Given the description of an element on the screen output the (x, y) to click on. 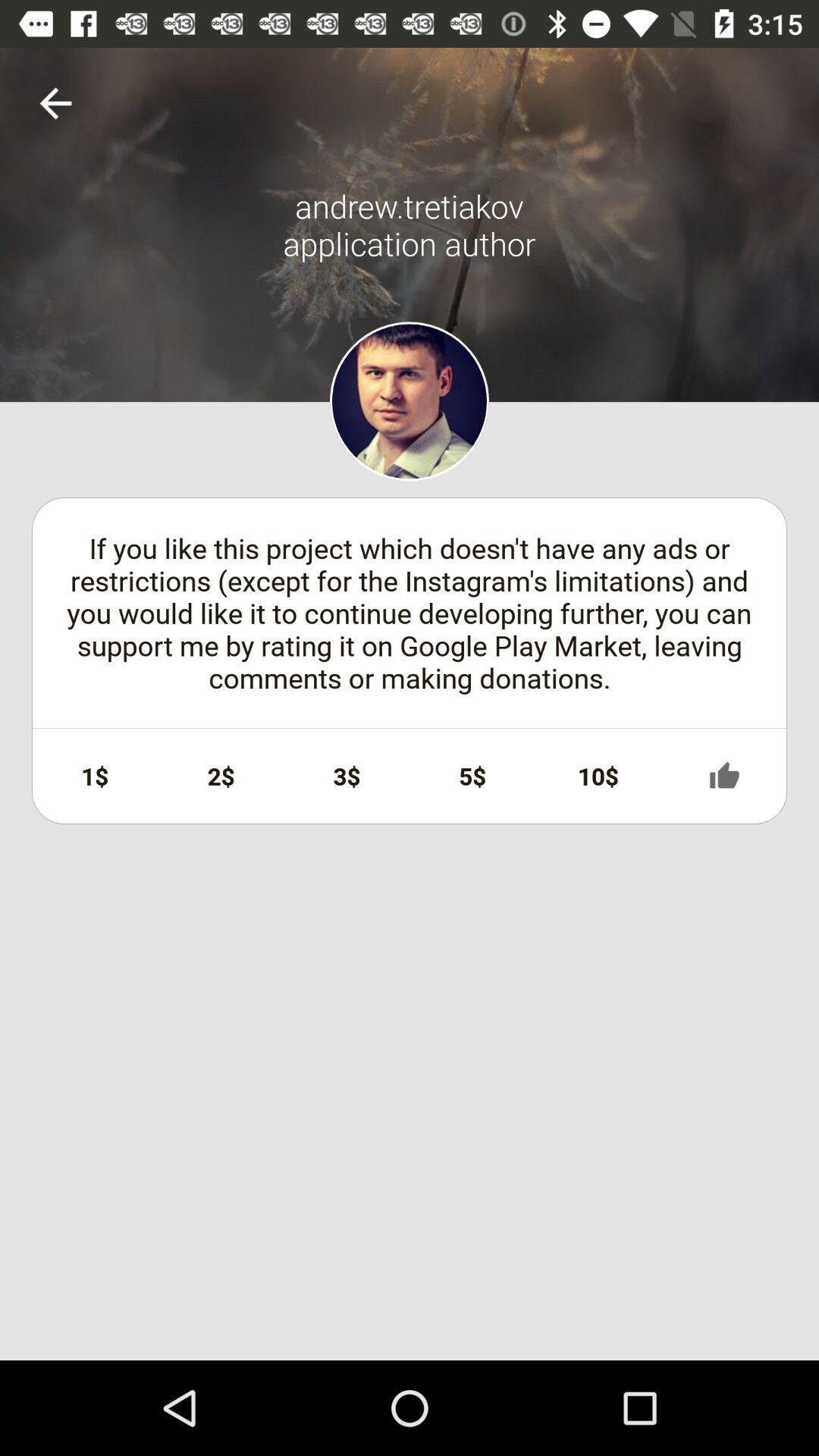
turn off the item to the right of 1$ (221, 776)
